Given the description of an element on the screen output the (x, y) to click on. 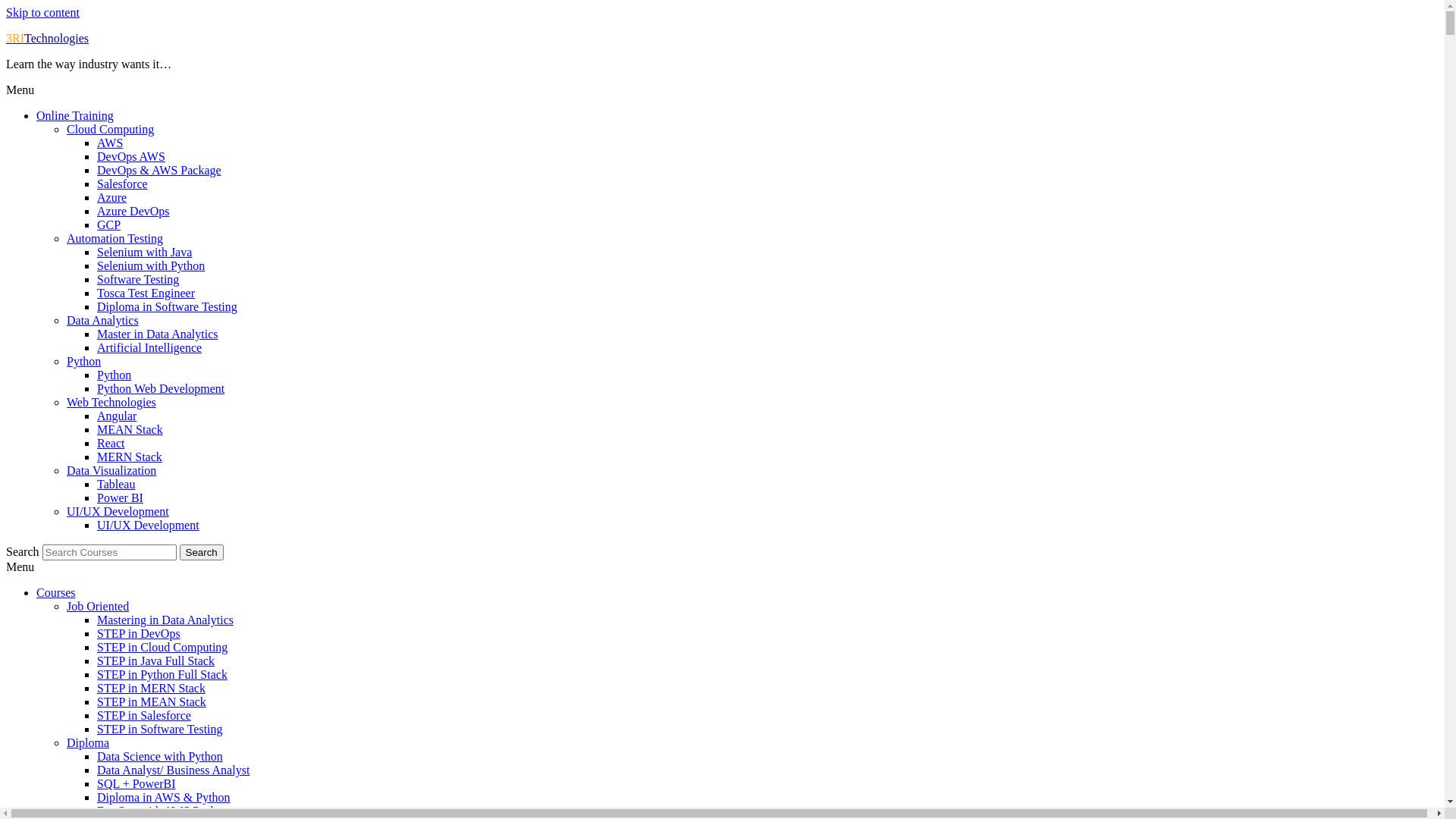
Azure Element type: text (111, 197)
Mastering in Data Analytics Element type: text (165, 619)
Python Element type: text (114, 374)
UI/UX Development Element type: text (117, 511)
Data Science with Python Element type: text (159, 755)
STEP in MEAN Stack Element type: text (151, 701)
3RITechnologies Element type: text (47, 37)
Azure DevOps Element type: text (133, 210)
DevOps & AWS Package Element type: text (159, 169)
DevOps with AWS Package Element type: text (165, 810)
Selenium with Java Element type: text (144, 251)
STEP in Software Testing Element type: text (159, 728)
Online Training Element type: text (74, 115)
Search Element type: text (201, 552)
Software Testing Element type: text (137, 279)
React Element type: text (110, 442)
Courses Element type: text (55, 592)
Job Oriented Element type: text (97, 605)
STEP in Cloud Computing Element type: text (162, 646)
GCP Element type: text (108, 224)
Python Web Development Element type: text (160, 388)
Tableau Element type: text (115, 483)
Automation Testing Element type: text (114, 238)
MEAN Stack Element type: text (130, 429)
Data Visualization Element type: text (111, 470)
Power BI Element type: text (120, 497)
Cloud Computing Element type: text (109, 128)
STEP in Java Full Stack Element type: text (155, 660)
Diploma in Software Testing Element type: text (167, 306)
Tosca Test Engineer Element type: text (145, 292)
Salesforce Element type: text (122, 183)
Master in Data Analytics Element type: text (157, 333)
STEP in Salesforce Element type: text (144, 715)
STEP in DevOps Element type: text (138, 633)
Diploma Element type: text (87, 742)
UI/UX Development Element type: text (148, 524)
DevOps AWS Element type: text (131, 156)
Data Analytics Element type: text (102, 319)
Web Technologies Element type: text (111, 401)
Python Element type: text (83, 360)
Diploma in AWS & Python Element type: text (163, 796)
Artificial Intelligence Element type: text (149, 347)
STEP in MERN Stack Element type: text (151, 687)
Angular Element type: text (116, 415)
AWS Element type: text (109, 142)
STEP in Python Full Stack Element type: text (162, 674)
Data Analyst/ Business Analyst Element type: text (173, 769)
Selenium with Python Element type: text (150, 265)
SQL + PowerBI Element type: text (136, 783)
MERN Stack Element type: text (129, 456)
Skip to content Element type: text (42, 12)
